Given the description of an element on the screen output the (x, y) to click on. 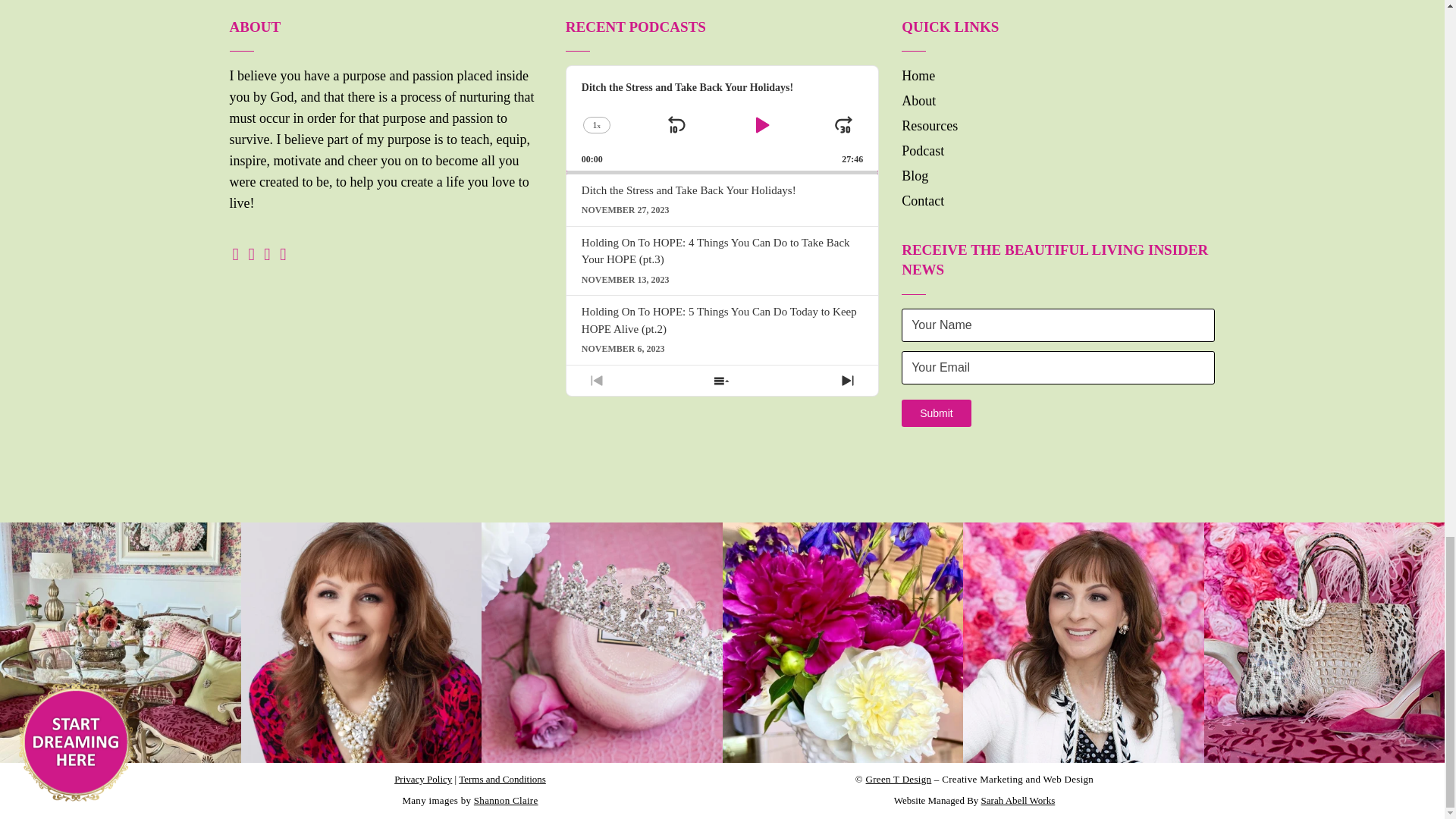
Submit (936, 412)
0 (721, 172)
Your Email (1057, 367)
Your Name (1057, 325)
